Given the description of an element on the screen output the (x, y) to click on. 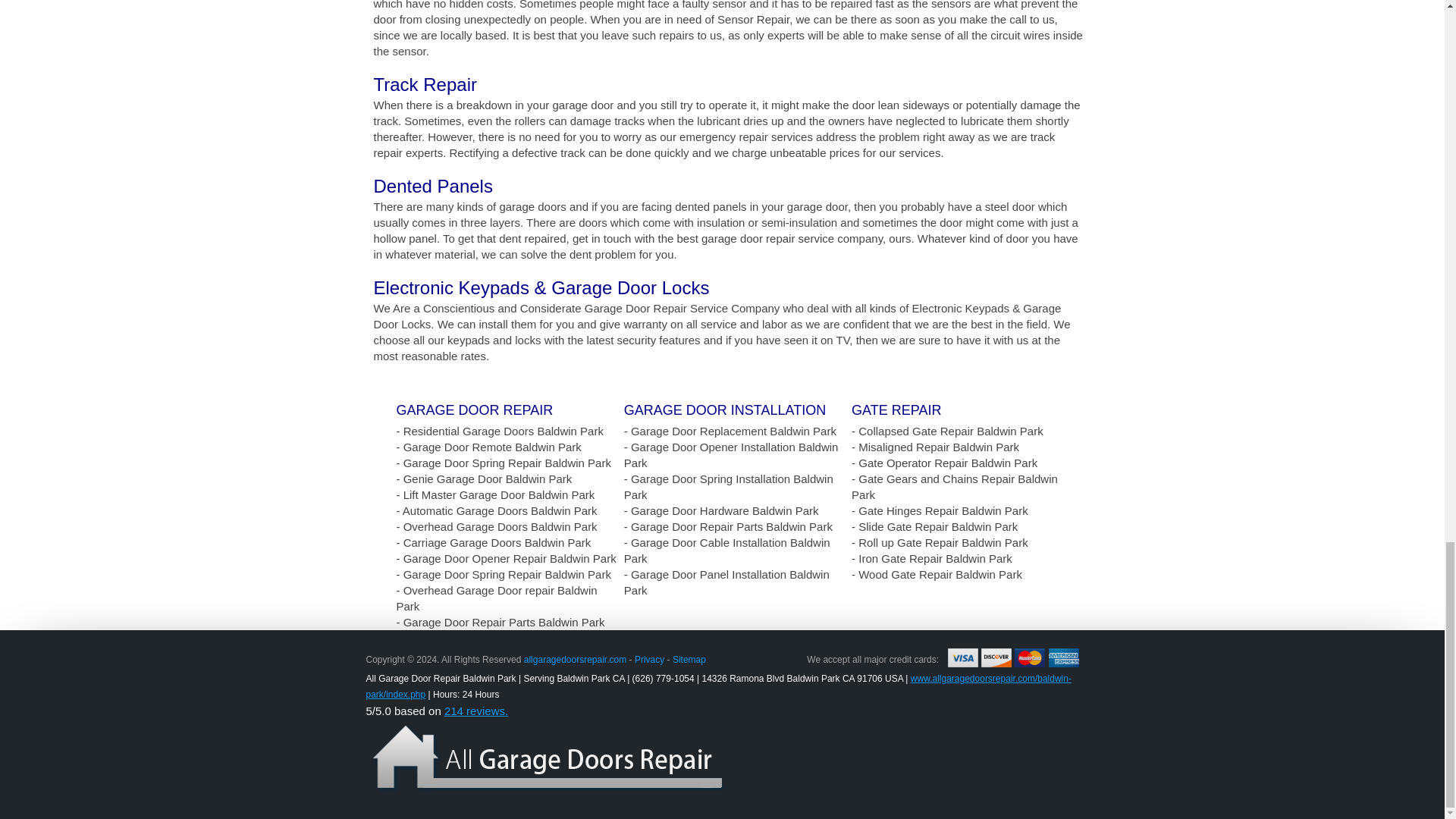
allgaragedoorsrepair.com (575, 659)
214 reviews. (476, 710)
Sitemap (689, 659)
Privacy (648, 659)
